Given the description of an element on the screen output the (x, y) to click on. 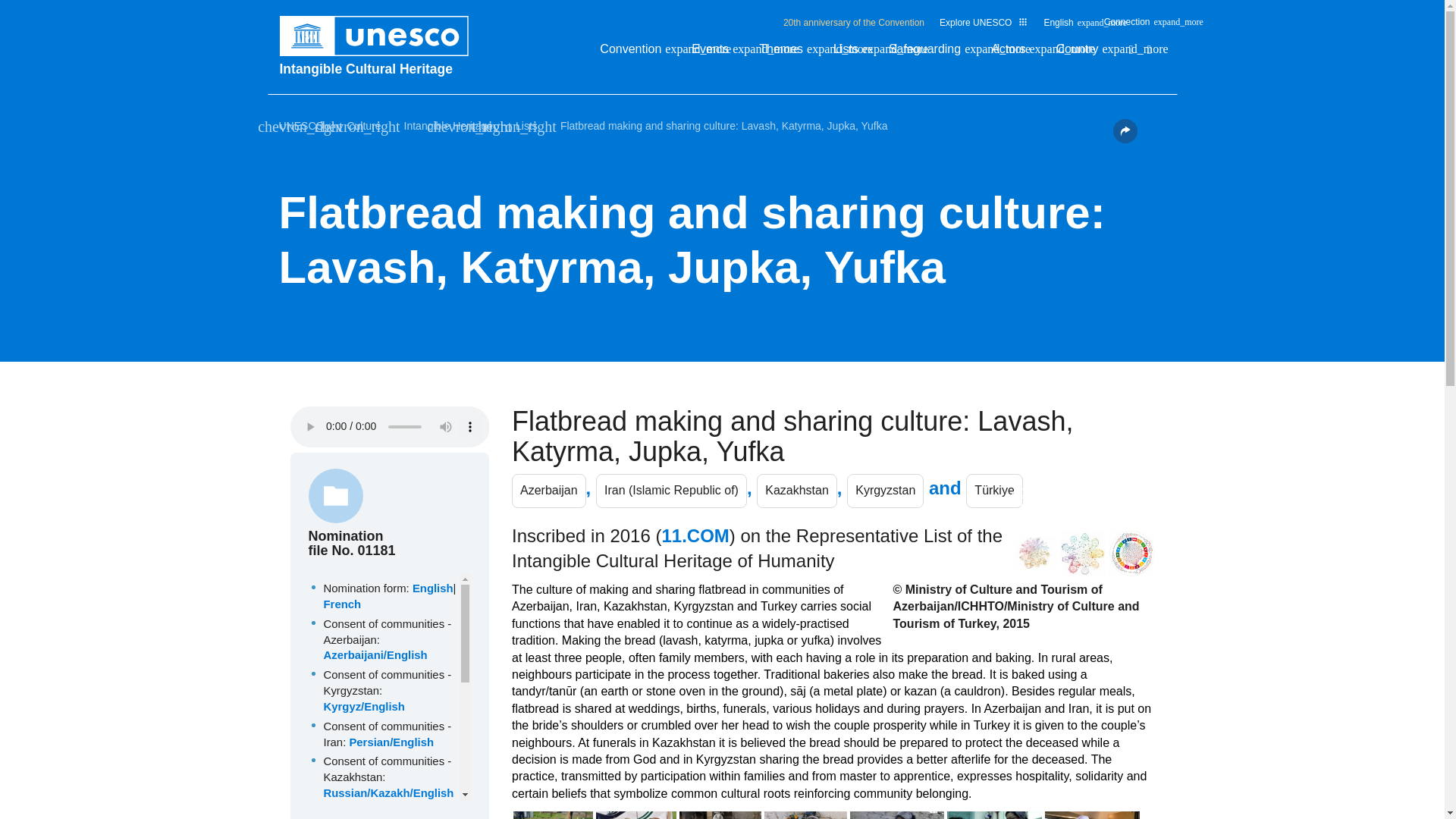
Explore UNESCO (983, 22)
Intangible Cultural Heritage (381, 68)
Events (717, 52)
Actors (1016, 52)
Events (717, 52)
Lists (852, 52)
0118100014 (383, 641)
English (1065, 26)
Safeguarding (931, 52)
Convention (638, 52)
Country (1084, 52)
English (1065, 26)
20th anniversary of the Convention (853, 22)
0118100017 (383, 692)
Connection (1134, 26)
